Given the description of an element on the screen output the (x, y) to click on. 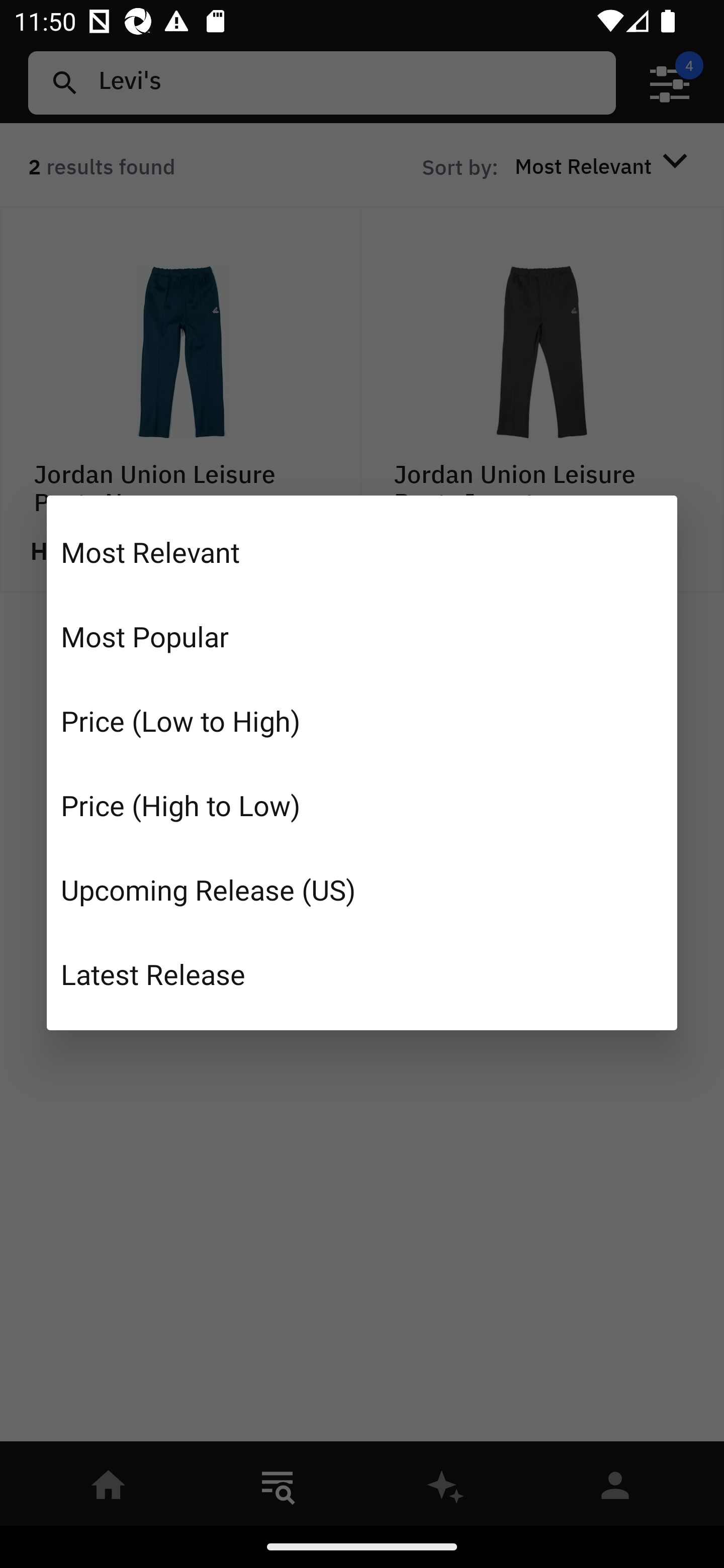
Most Relevant (361, 551)
Most Popular (361, 636)
Price (Low to High) (361, 720)
Price (High to Low) (361, 804)
Upcoming Release (US) (361, 888)
Latest Release (361, 973)
